Given the description of an element on the screen output the (x, y) to click on. 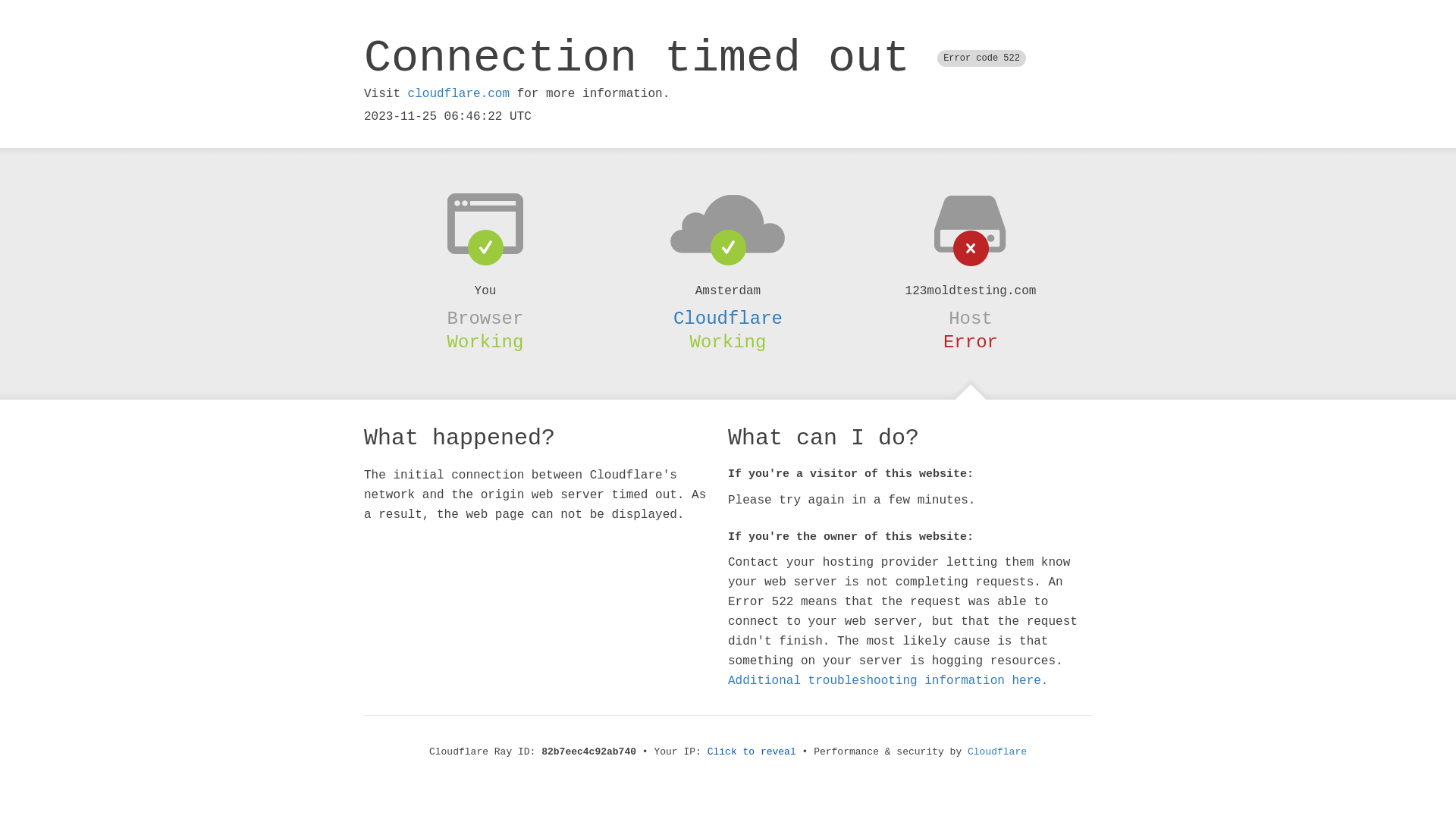
Cloudflare Element type: text (727, 318)
Cloudflare Element type: text (996, 751)
Additional troubleshooting information here. Element type: text (888, 680)
cloudflare.com Element type: text (458, 93)
Click to reveal Element type: text (751, 751)
